Given the description of an element on the screen output the (x, y) to click on. 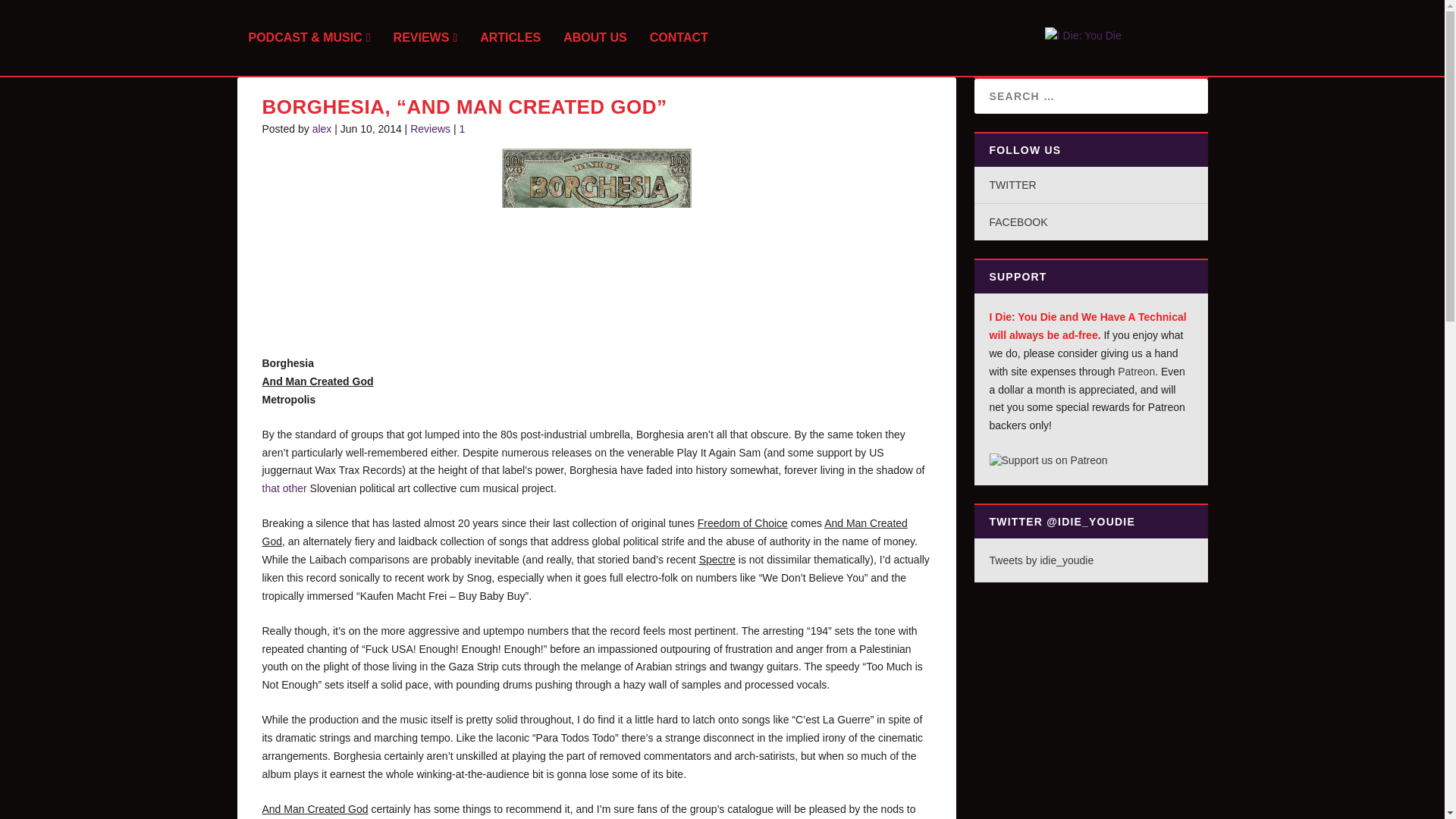
REVIEWS (425, 53)
alex (322, 128)
CONTACT (678, 53)
1 (464, 128)
ABOUT US (595, 53)
Reviews (429, 128)
that other (284, 488)
7823880808 (596, 243)
Posts by alex (322, 128)
ARTICLES (510, 53)
